Given the description of an element on the screen output the (x, y) to click on. 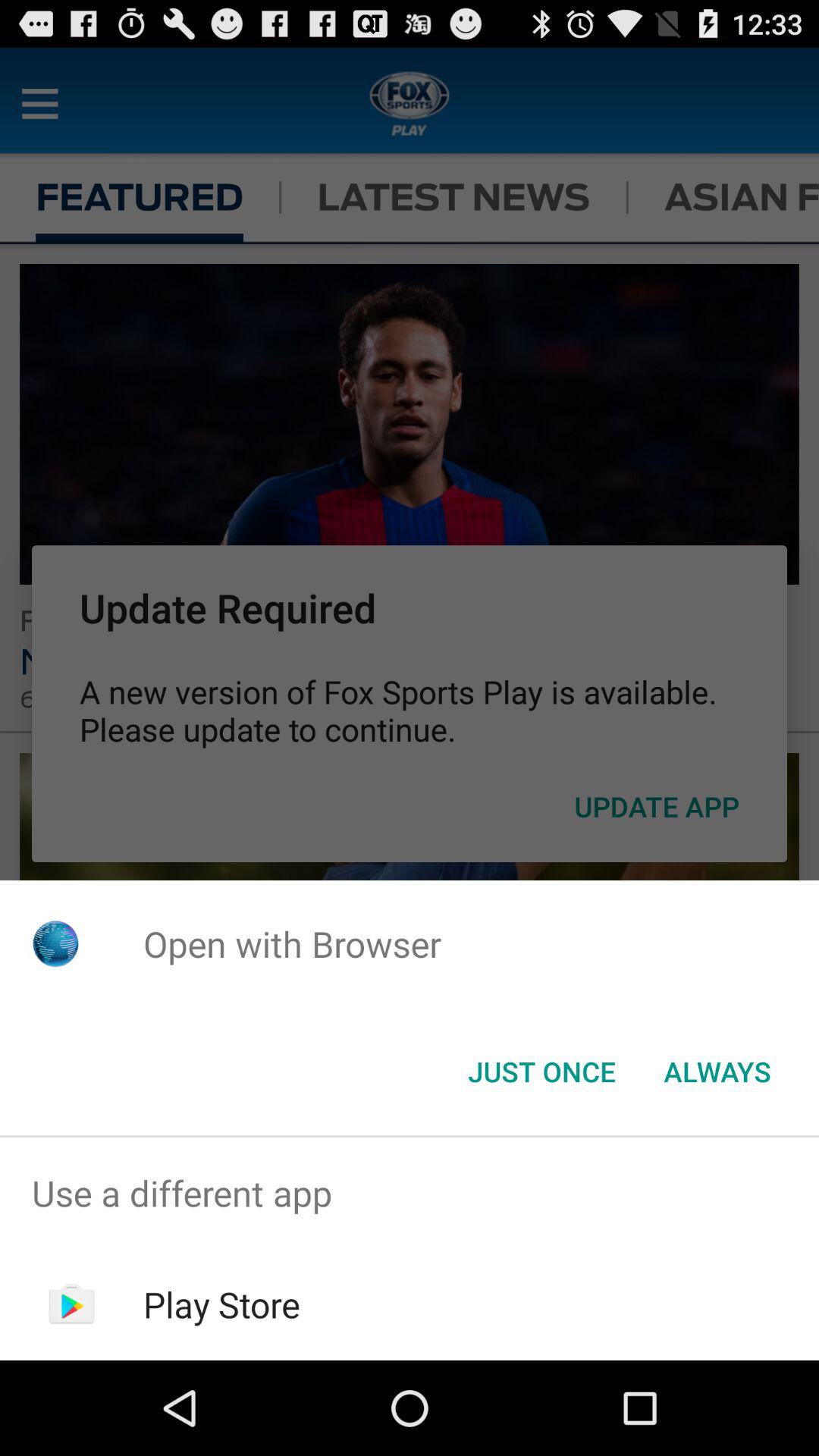
tap the play store icon (221, 1304)
